Given the description of an element on the screen output the (x, y) to click on. 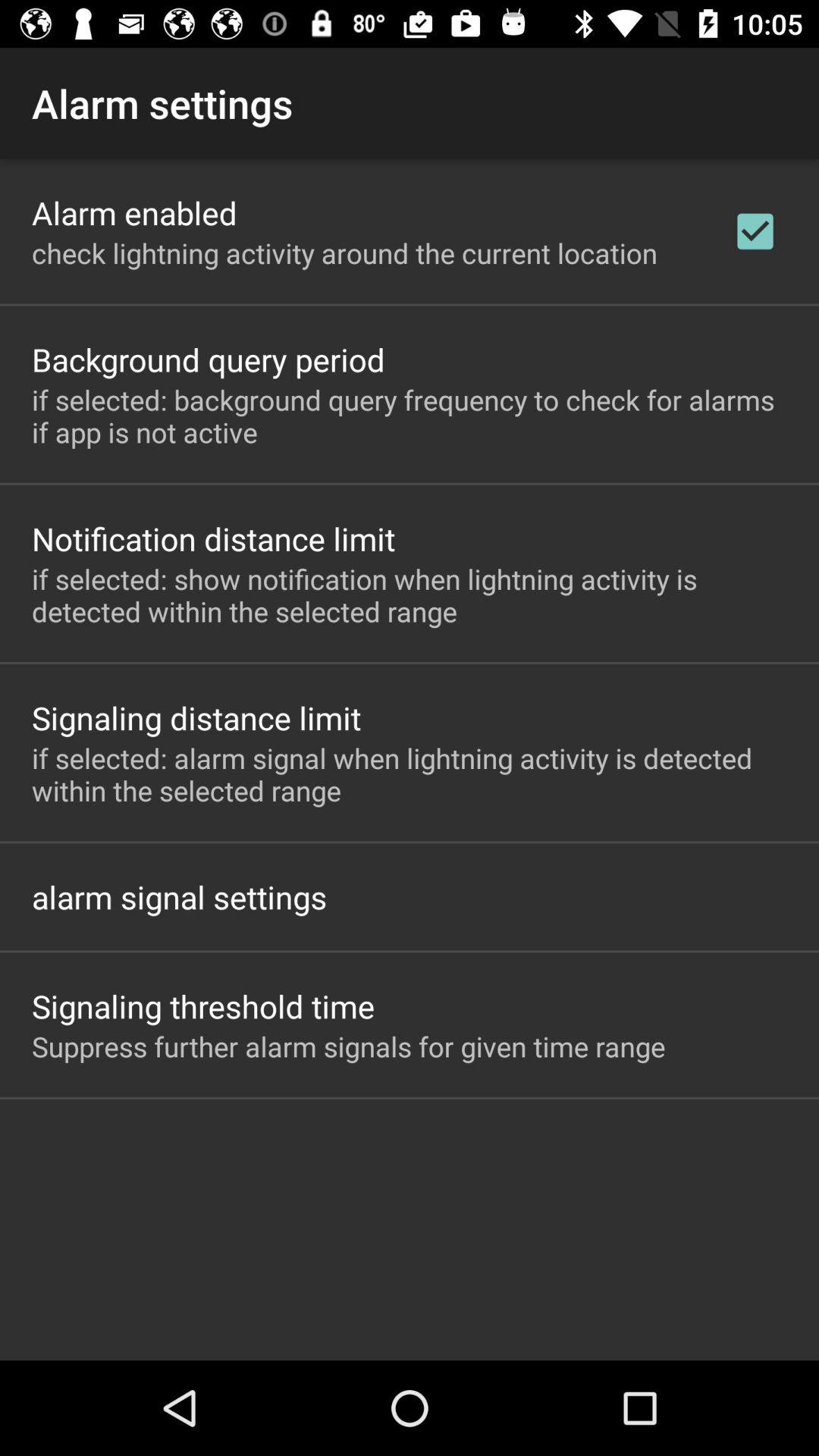
open the icon above the suppress further alarm item (202, 1005)
